Given the description of an element on the screen output the (x, y) to click on. 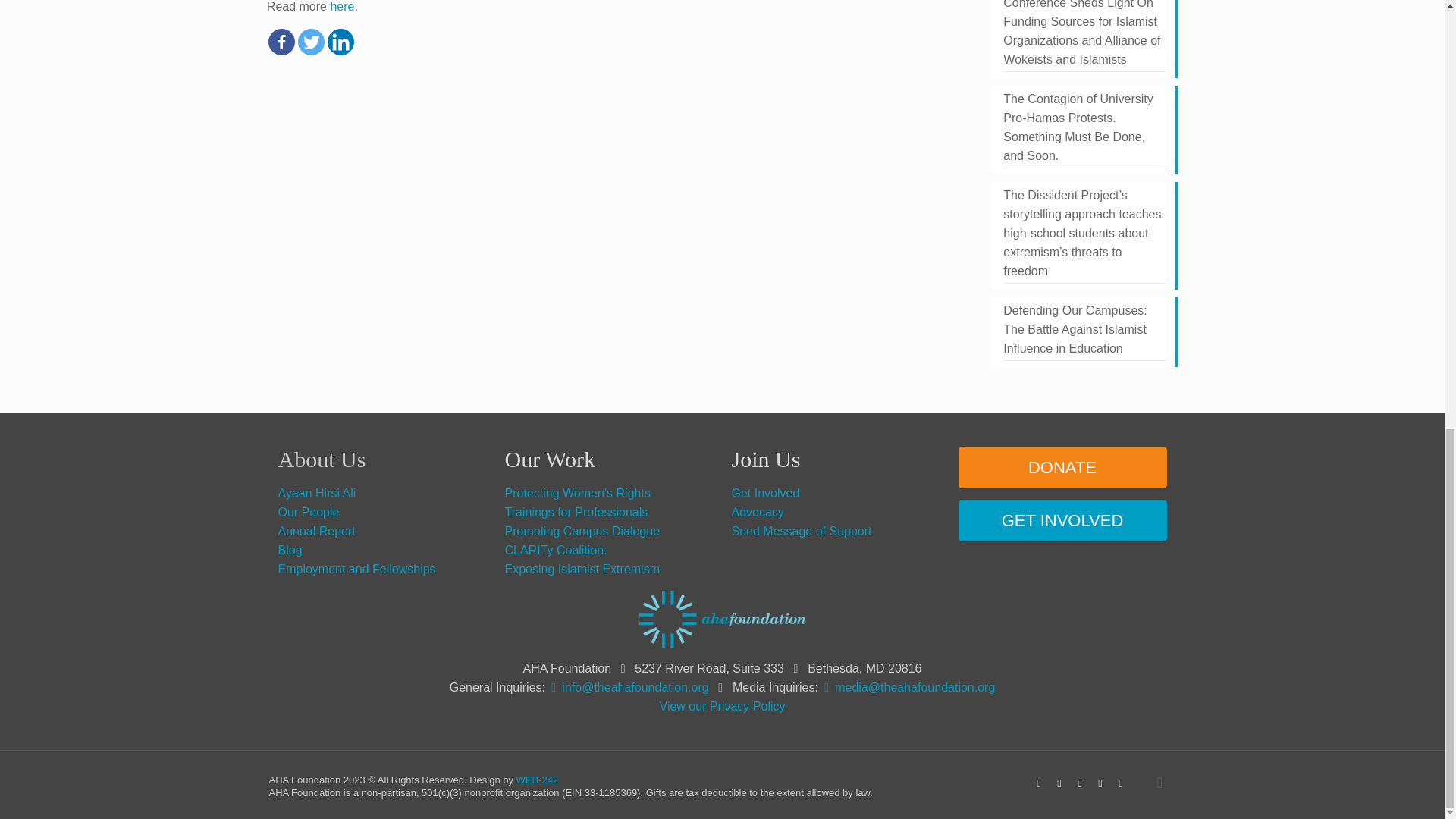
Twitter (311, 41)
Linkedin (340, 41)
Facebook (281, 41)
